Given the description of an element on the screen output the (x, y) to click on. 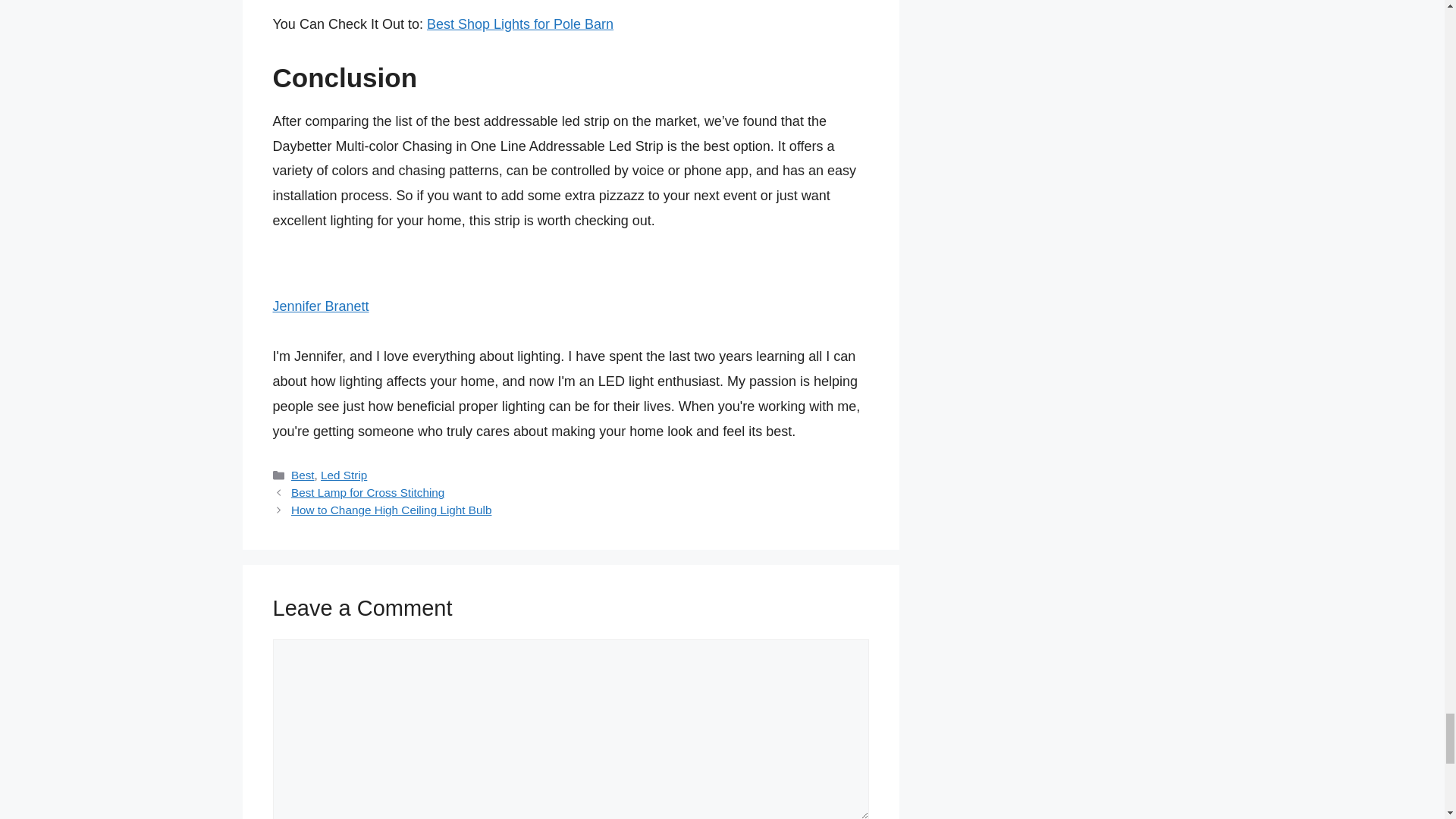
How to Change High Ceiling Light Bulb (391, 509)
Best (302, 474)
Led Strip (343, 474)
Best Lamp for Cross Stitching (367, 492)
Jennifer Branett (321, 305)
Best Shop Lights for Pole Barn (519, 23)
